Given the description of an element on the screen output the (x, y) to click on. 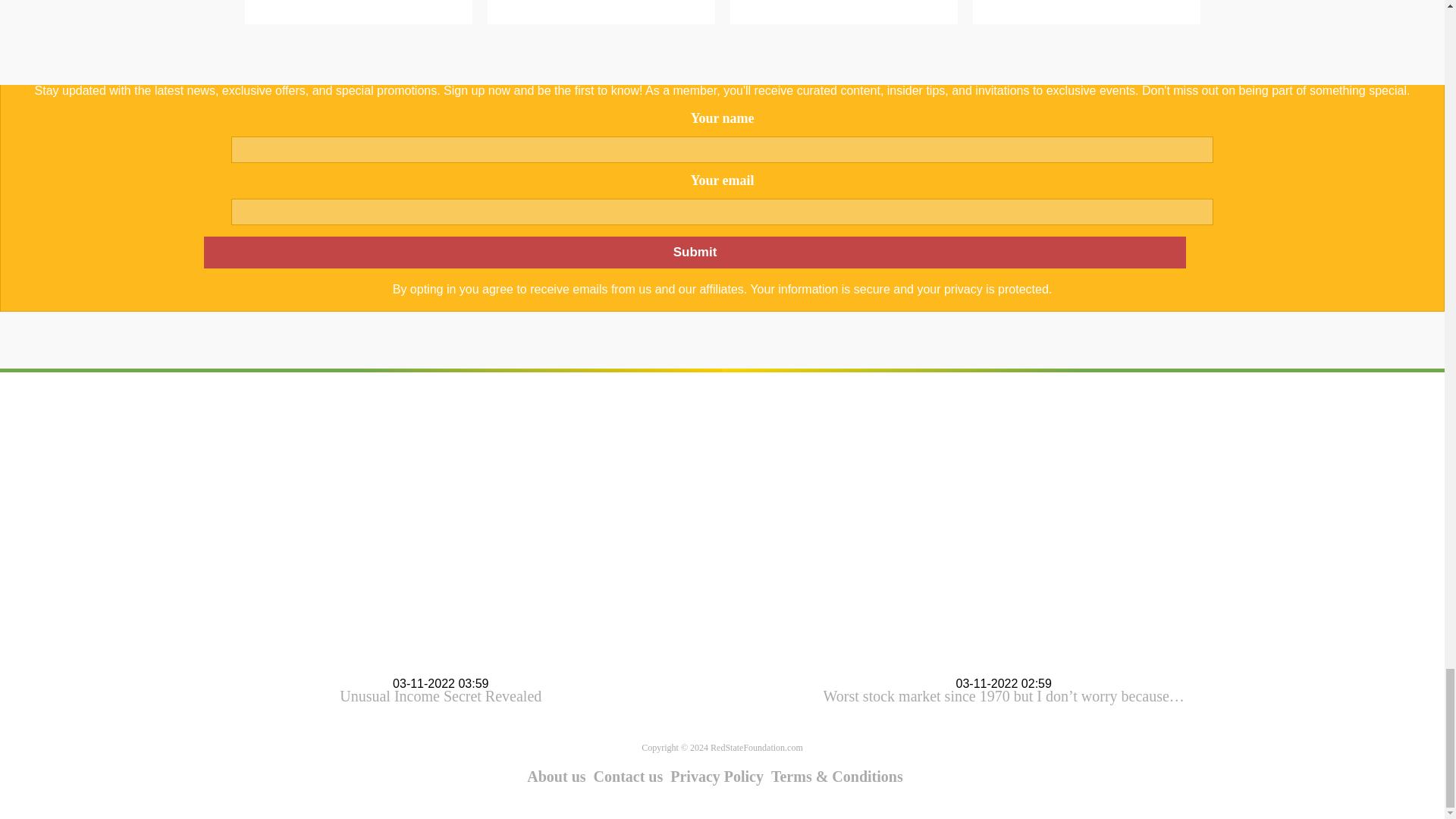
Submit (694, 252)
